Given the description of an element on the screen output the (x, y) to click on. 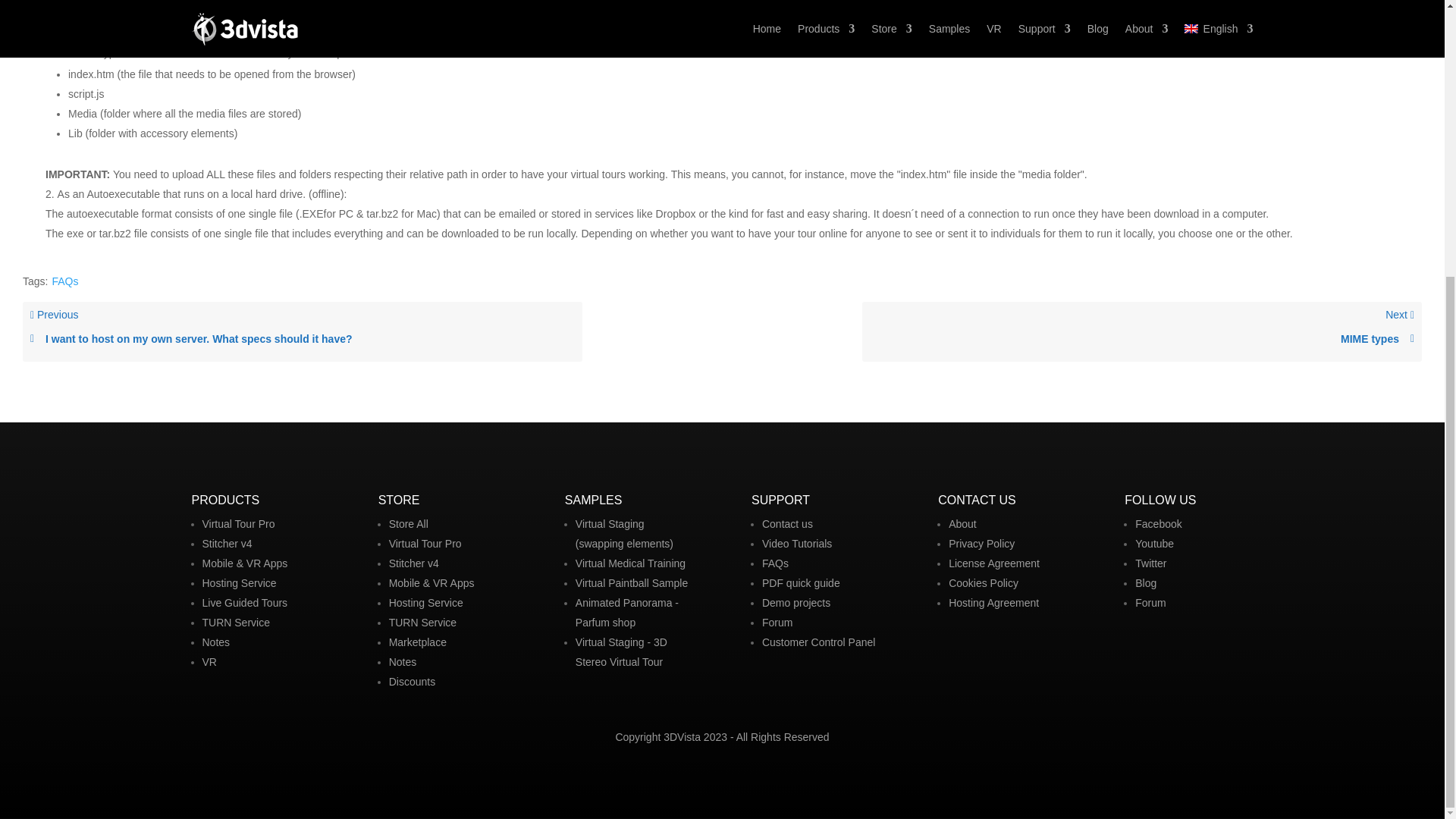
MIME types (1141, 339)
I want to host on my own server. What specs should it have? (302, 339)
